Given the description of an element on the screen output the (x, y) to click on. 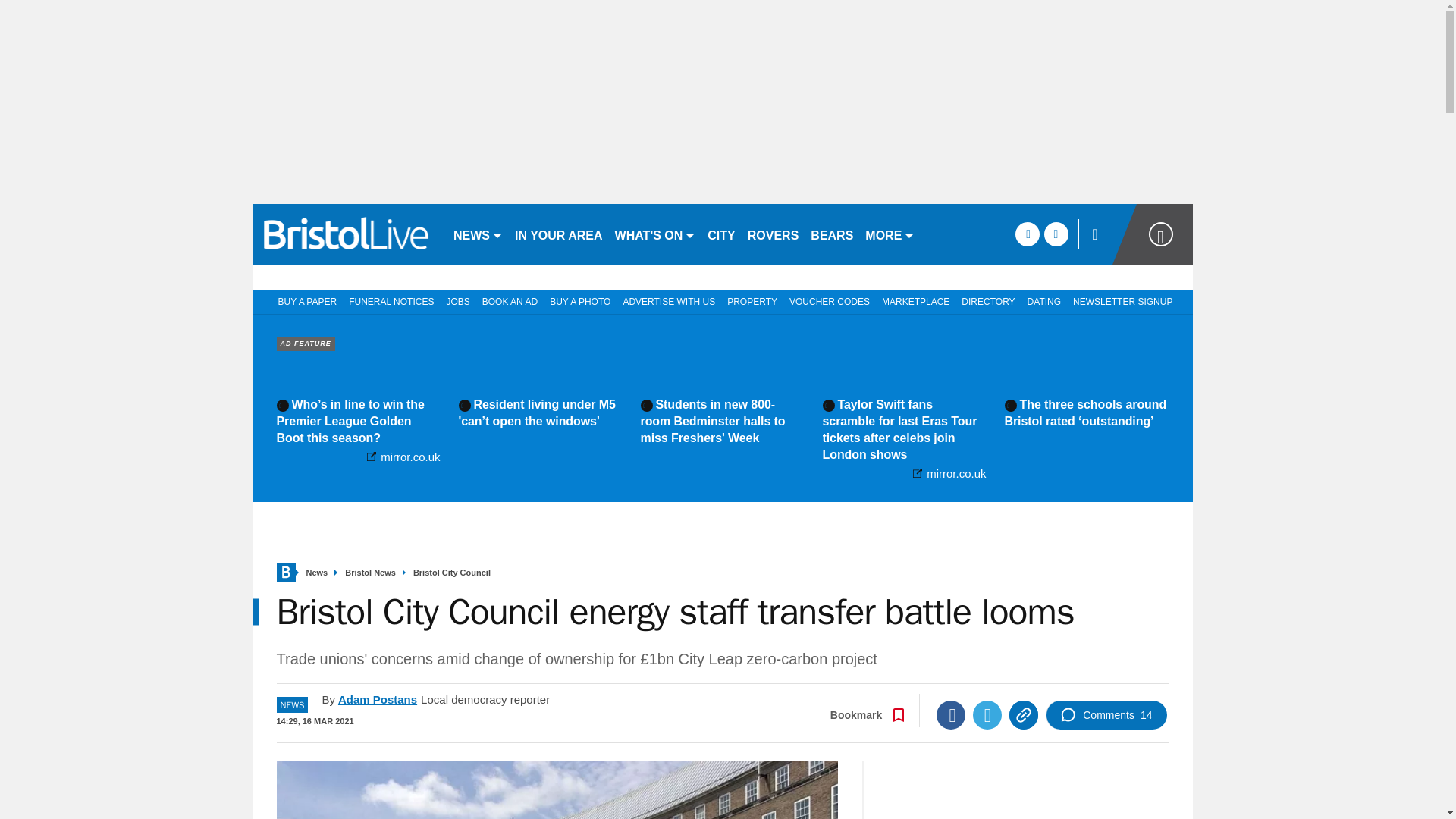
WHAT'S ON (654, 233)
BEARS (832, 233)
ROVERS (773, 233)
twitter (1055, 233)
Facebook (950, 715)
IN YOUR AREA (558, 233)
MORE (889, 233)
Twitter (986, 715)
Comments (1105, 715)
NEWS (477, 233)
